Given the description of an element on the screen output the (x, y) to click on. 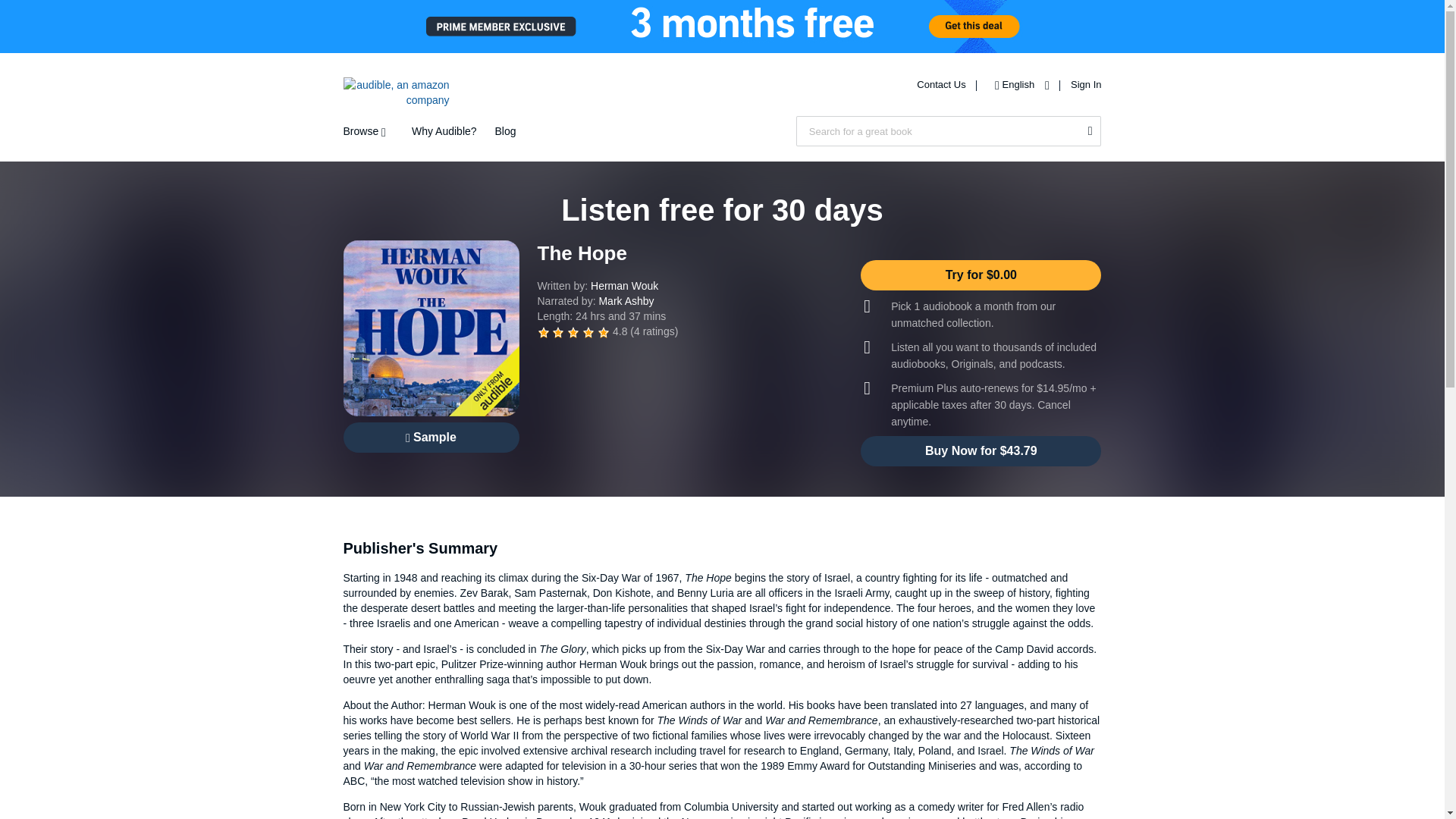
Why Audible? (444, 131)
English (1018, 84)
Contact Us (942, 84)
Browse (367, 131)
Sample (430, 437)
Herman Wouk (624, 285)
Mark Ashby (625, 300)
Blog (505, 131)
Sign In (1085, 84)
